Given the description of an element on the screen output the (x, y) to click on. 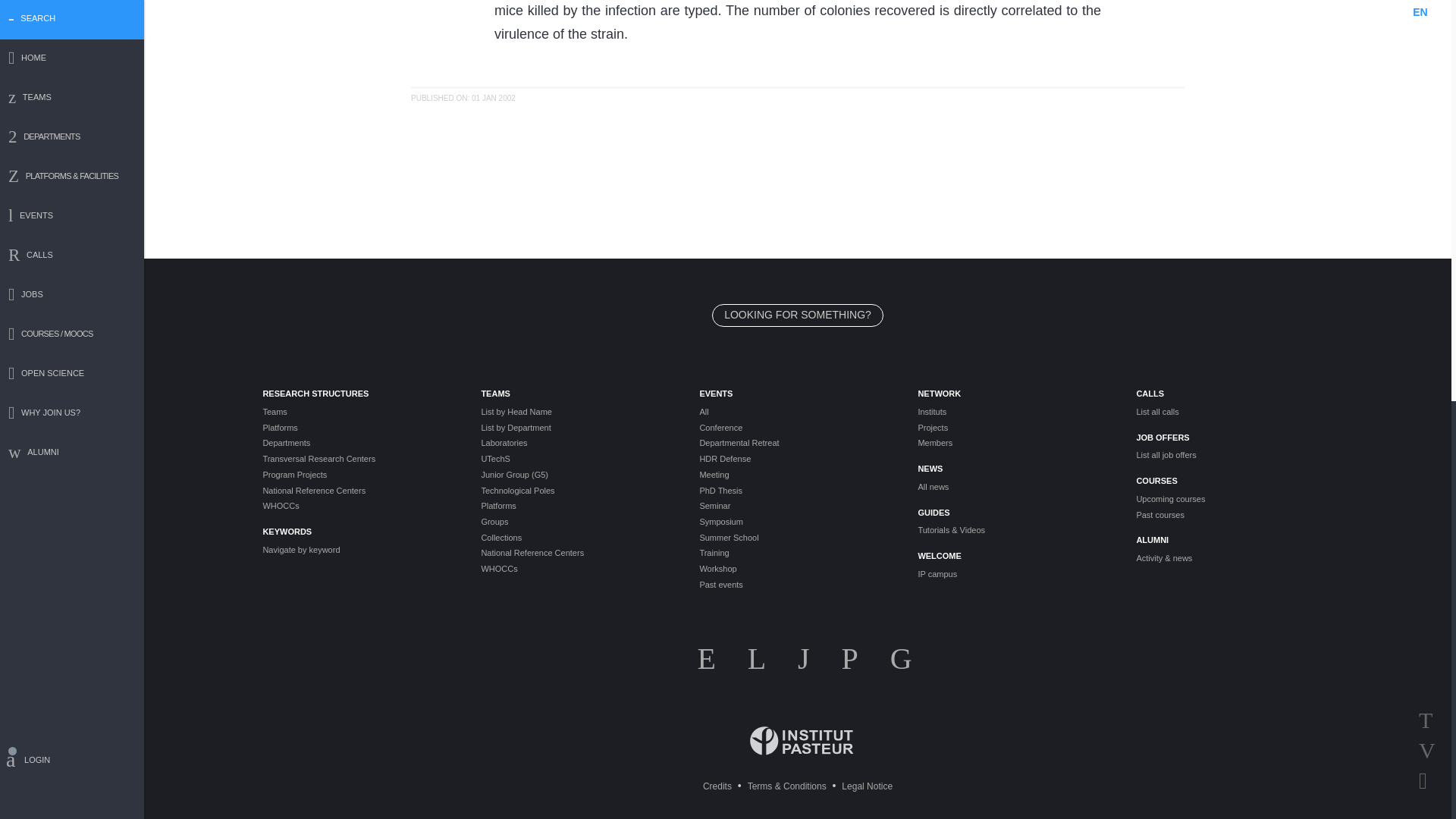
PUBLISHED ON: 01 JAN 2002 (462, 98)
Departments (360, 442)
Platforms (360, 427)
Teams (360, 411)
